Given the description of an element on the screen output the (x, y) to click on. 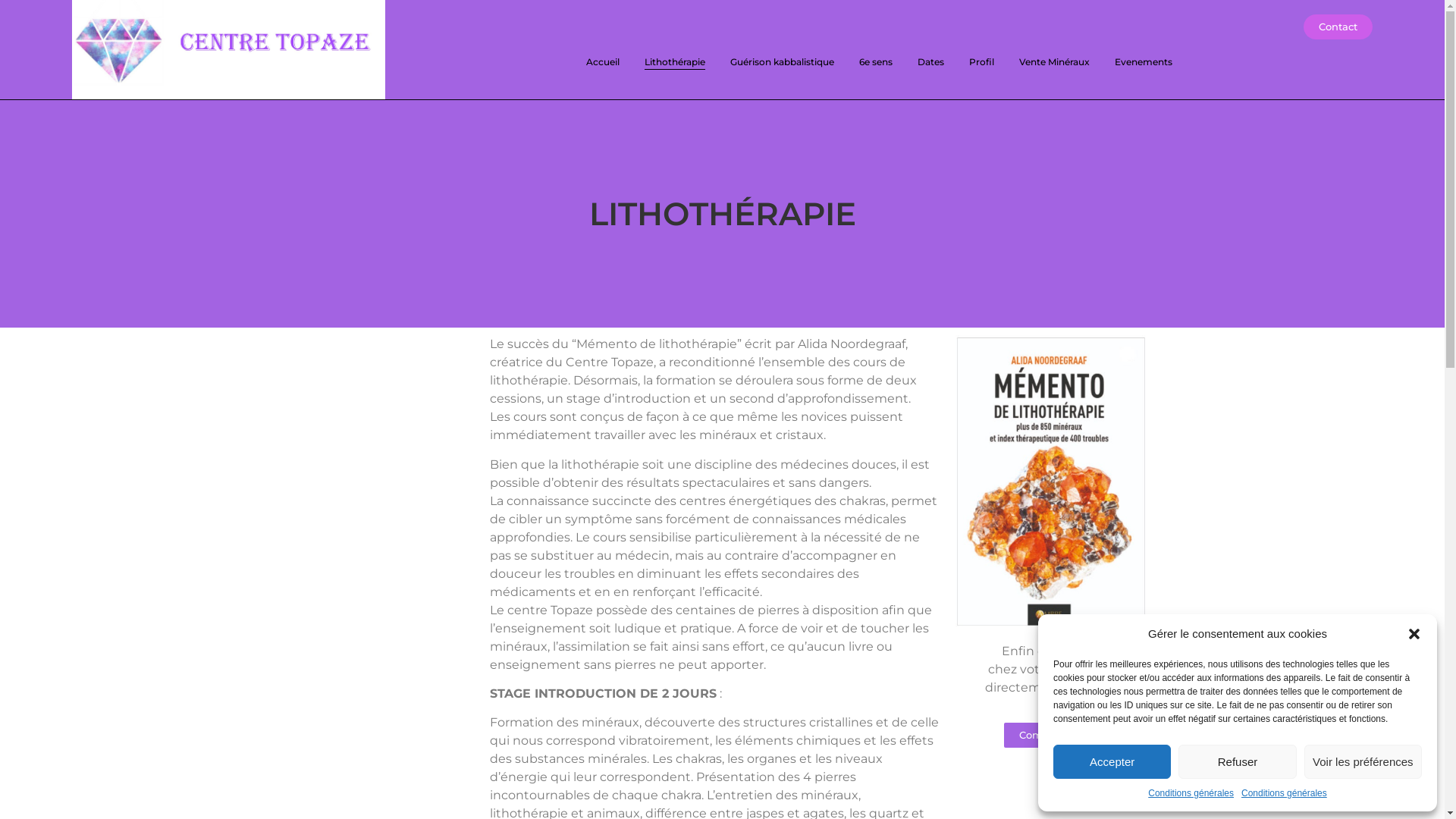
Profil Element type: text (981, 61)
Contact Element type: text (1337, 26)
Commander Element type: text (1051, 734)
6e sens Element type: text (874, 61)
Accepter Element type: text (1111, 761)
Accueil Element type: text (601, 61)
Refuser Element type: text (1236, 761)
Dates Element type: text (930, 61)
Evenements Element type: text (1143, 61)
